Given the description of an element on the screen output the (x, y) to click on. 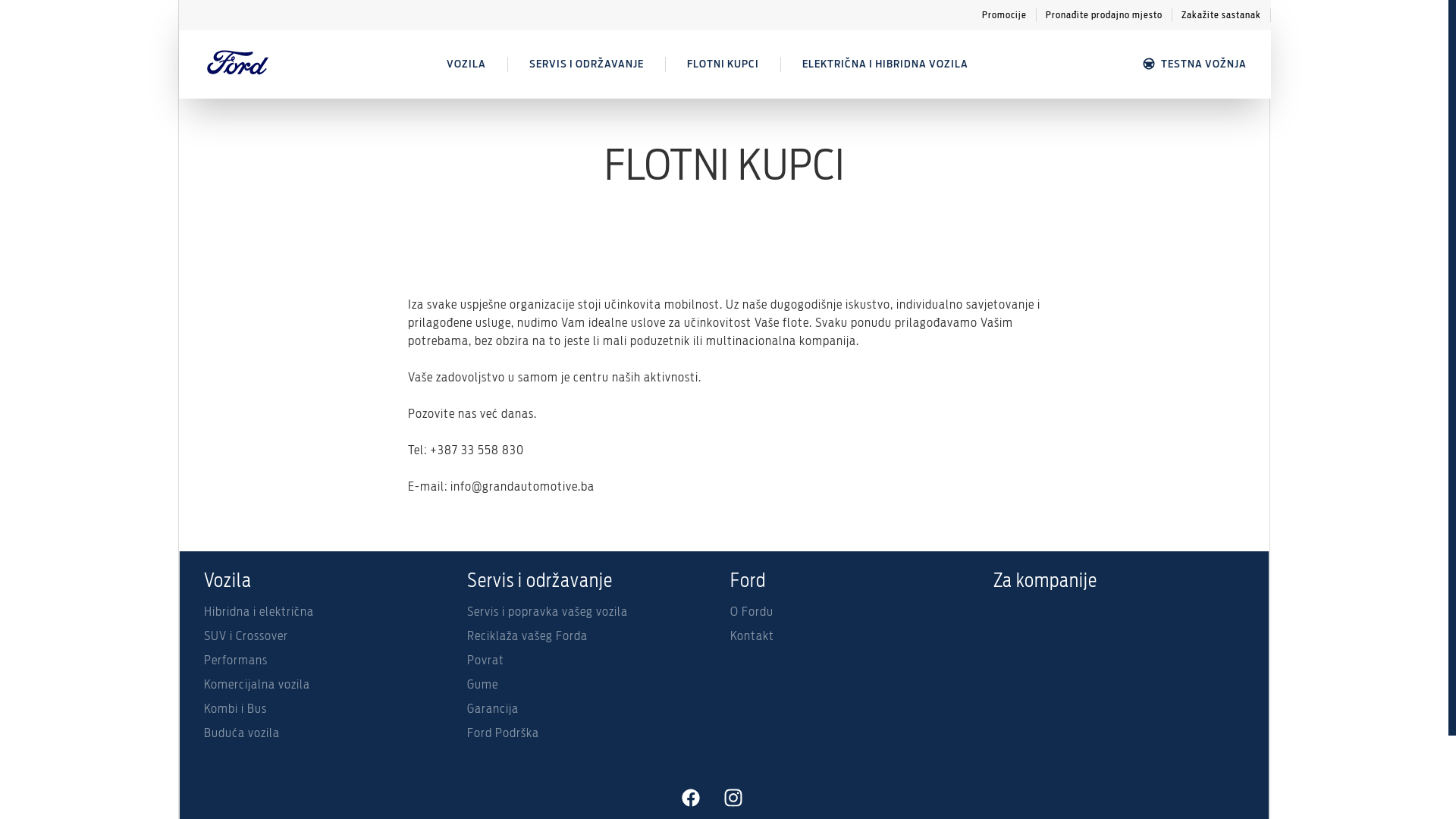
SUV i Crossover Element type: text (329, 639)
Gume Element type: text (592, 687)
Kombi i Bus Element type: text (329, 711)
info@grandautomotive.ba Element type: text (522, 486)
FLOTNI KUPCI Element type: text (723, 64)
O Fordu Element type: text (855, 614)
Povrat Element type: text (592, 663)
Komercijalna vozila Element type: text (329, 687)
Garancija Element type: text (592, 711)
Performans Element type: text (329, 663)
Kontakt Element type: text (855, 639)
Promocije Element type: text (1004, 14)
